Given the description of an element on the screen output the (x, y) to click on. 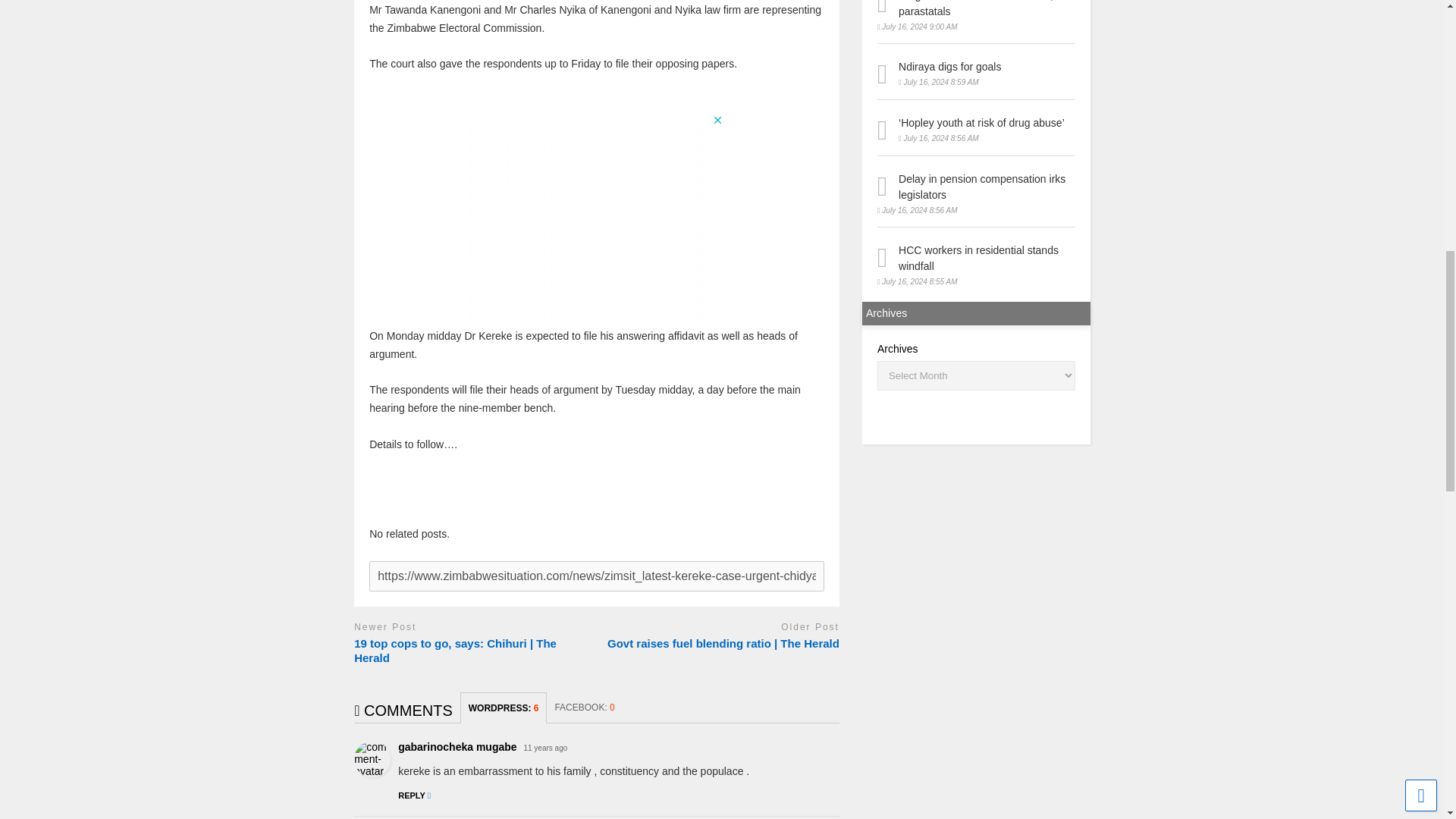
WORDPRESS: 6 (503, 707)
REPLY (413, 795)
11 years ago (544, 747)
3rd party ad content (595, 219)
FACEBOOK: 0 (584, 707)
